Given the description of an element on the screen output the (x, y) to click on. 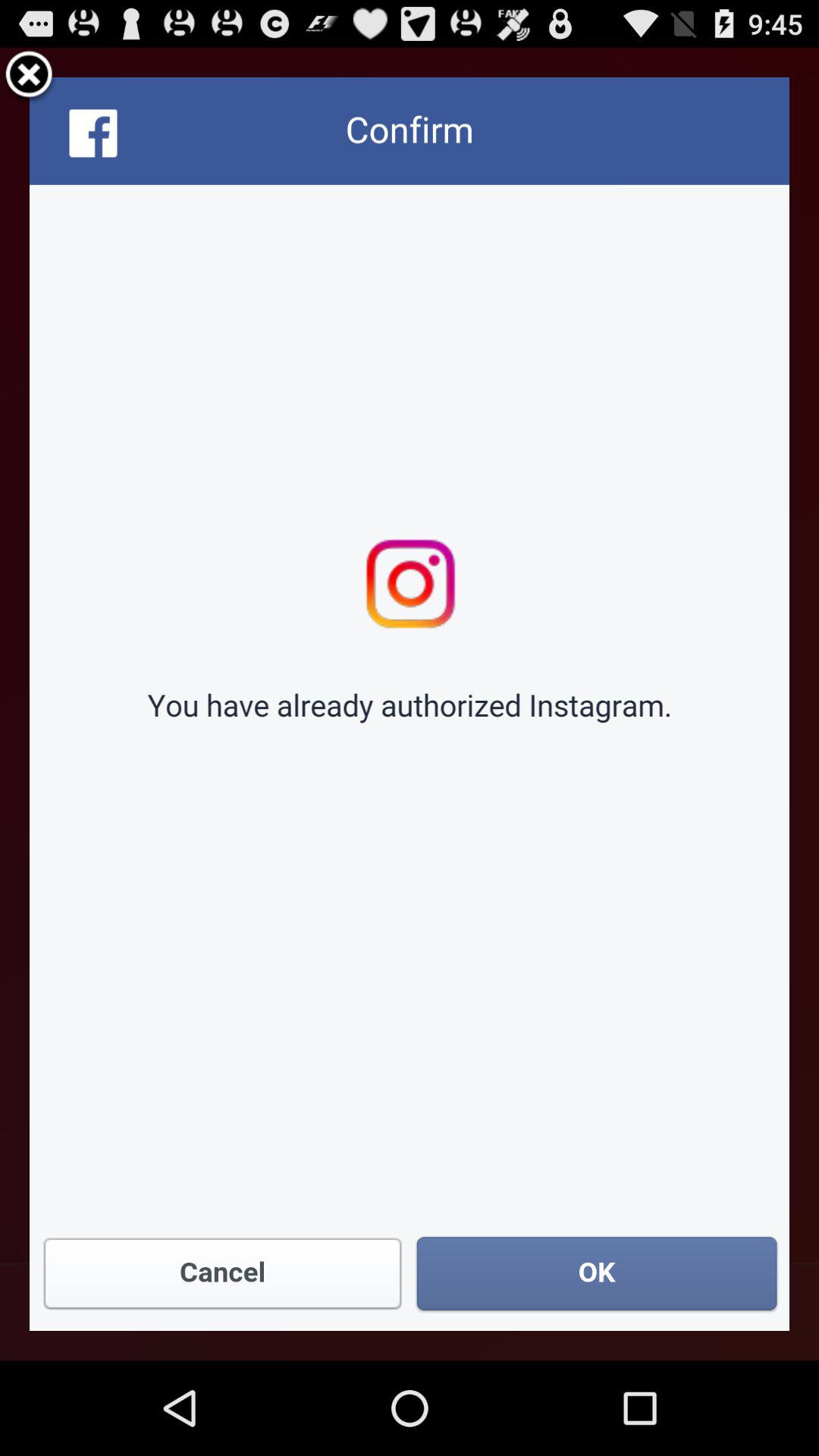
cancel (29, 76)
